Given the description of an element on the screen output the (x, y) to click on. 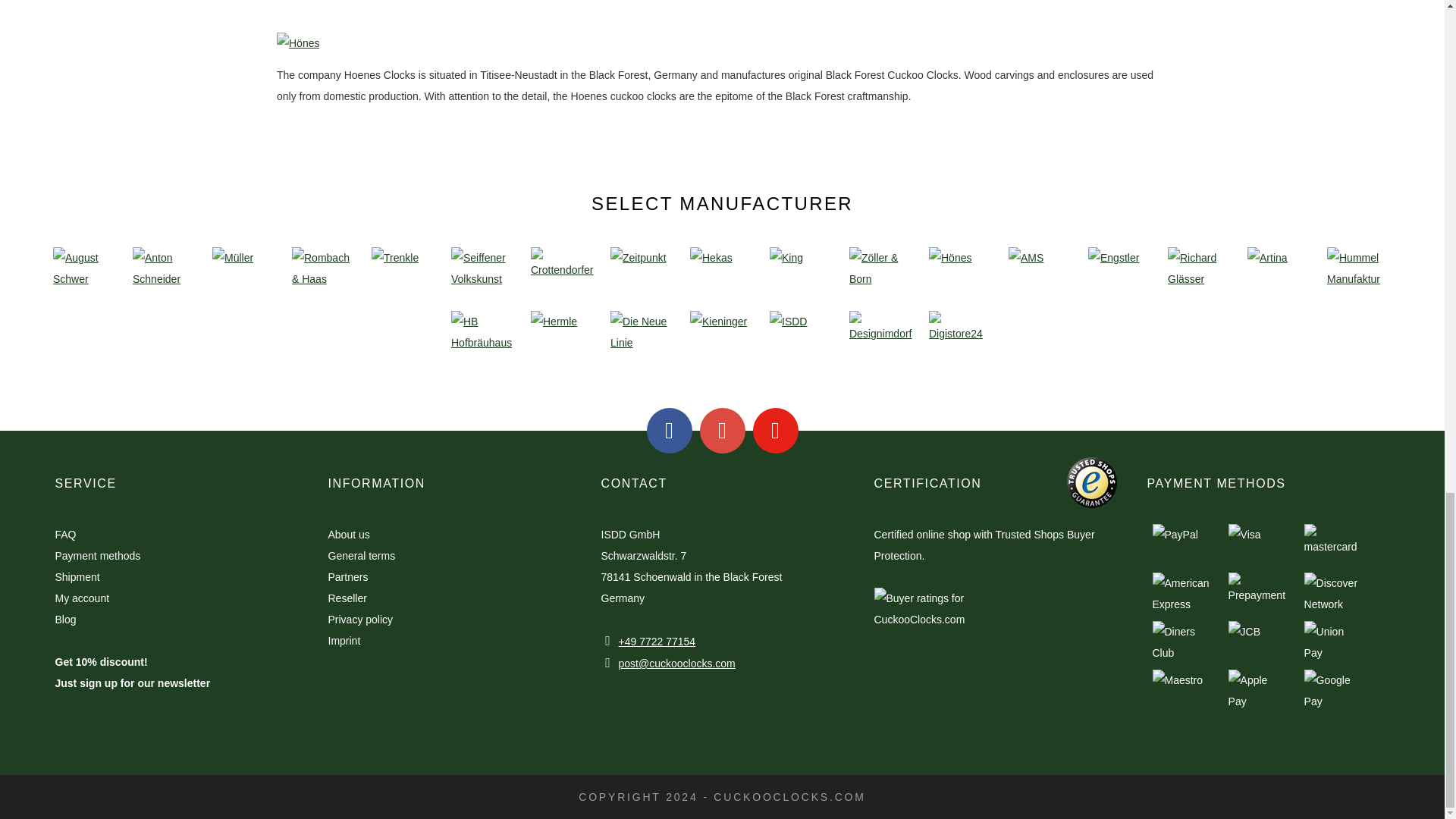
Buyer ratings for CuckooClocks.com (945, 665)
